Given the description of an element on the screen output the (x, y) to click on. 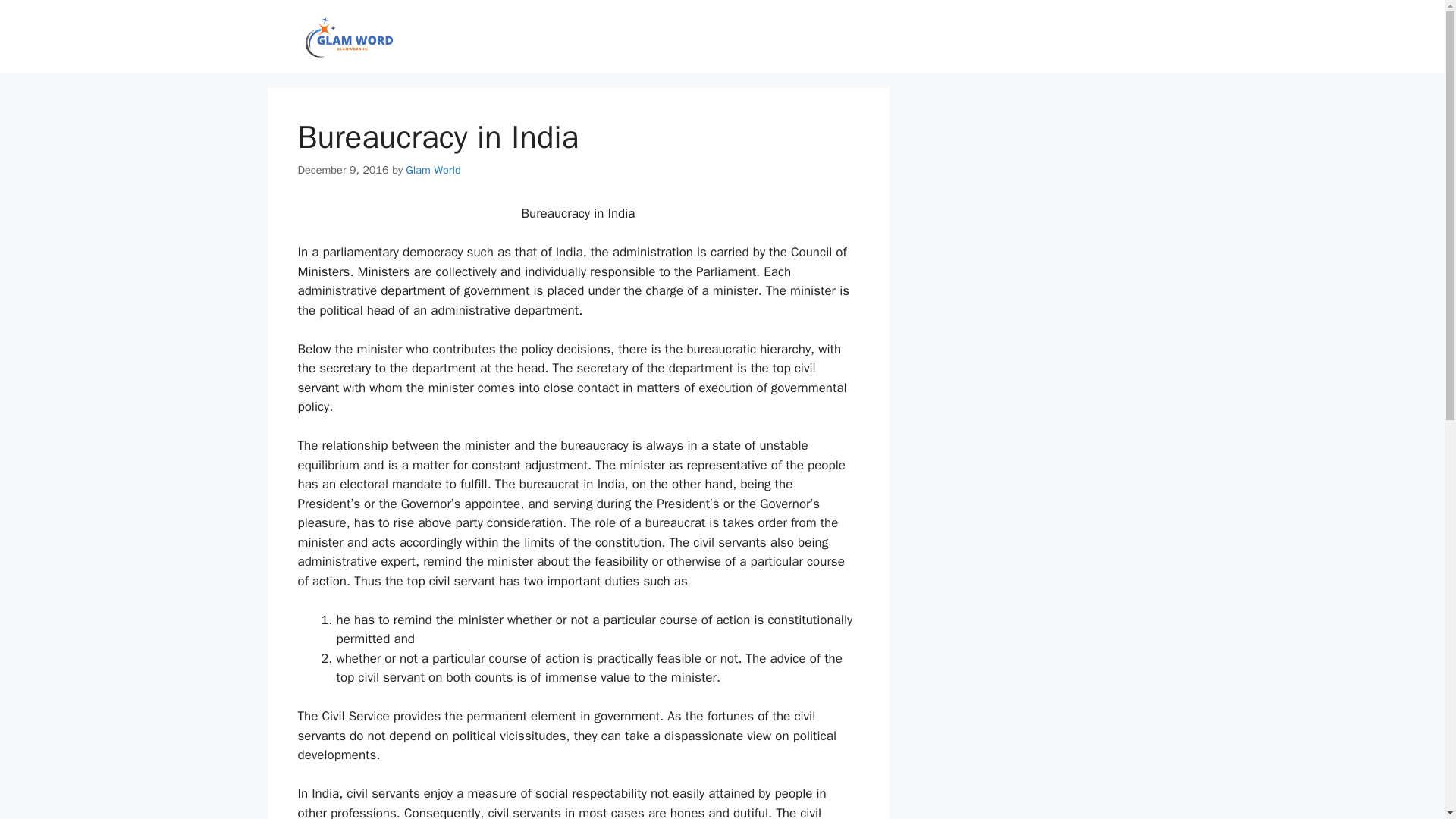
Glam World (433, 169)
View all posts by Glam World (433, 169)
